Given the description of an element on the screen output the (x, y) to click on. 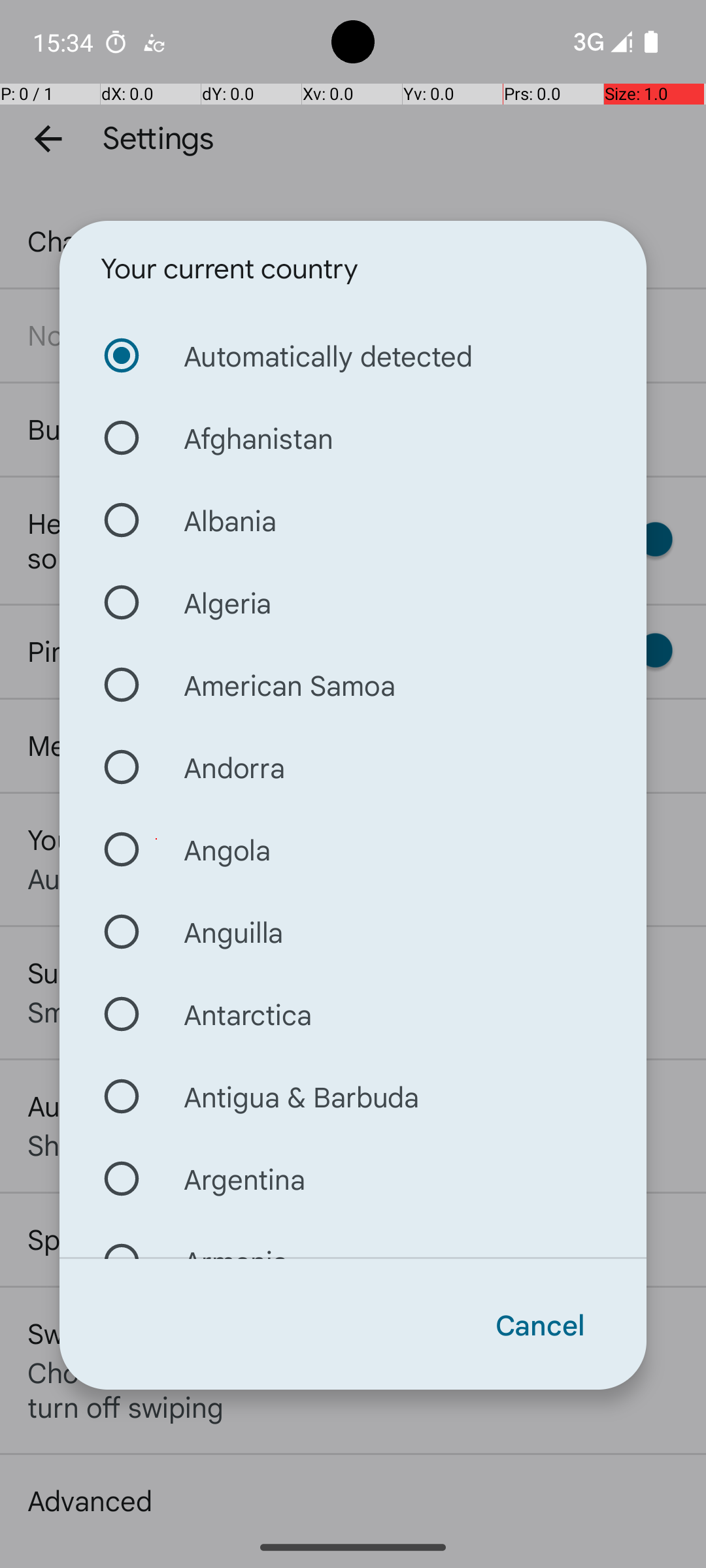
Your current country Element type: android.widget.TextView (229, 268)
Automatically detected Element type: android.widget.CheckedTextView (352, 355)
Afghanistan Element type: android.widget.CheckedTextView (352, 437)
Albania Element type: android.widget.CheckedTextView (352, 519)
Algeria Element type: android.widget.CheckedTextView (352, 602)
American Samoa Element type: android.widget.CheckedTextView (352, 684)
Andorra Element type: android.widget.CheckedTextView (352, 766)
Angola Element type: android.widget.CheckedTextView (352, 849)
Anguilla Element type: android.widget.CheckedTextView (352, 931)
Antarctica Element type: android.widget.CheckedTextView (352, 1013)
Antigua & Barbuda Element type: android.widget.CheckedTextView (352, 1096)
Argentina Element type: android.widget.CheckedTextView (352, 1178)
Armenia Element type: android.widget.CheckedTextView (352, 1238)
